Given the description of an element on the screen output the (x, y) to click on. 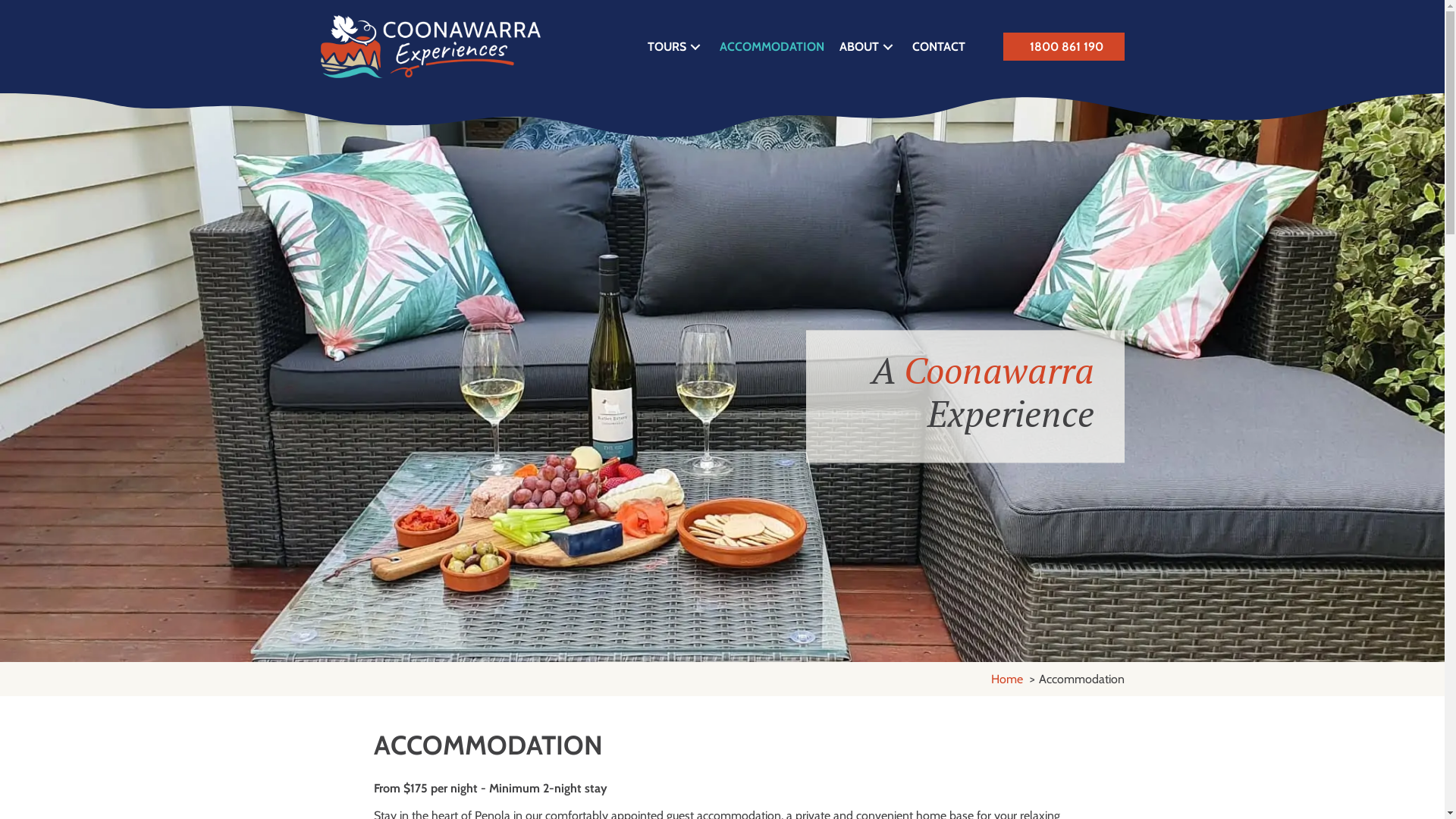
ABOUT Element type: text (867, 46)
1800 861 190 Element type: text (1062, 46)
ACCOMMODATION Element type: text (771, 46)
Home Element type: text (1006, 678)
TOURS Element type: text (676, 46)
CONTACT Element type: text (937, 46)
Coonawarra Experiences Logo Landscape White Text Element type: hover (429, 46)
